Given the description of an element on the screen output the (x, y) to click on. 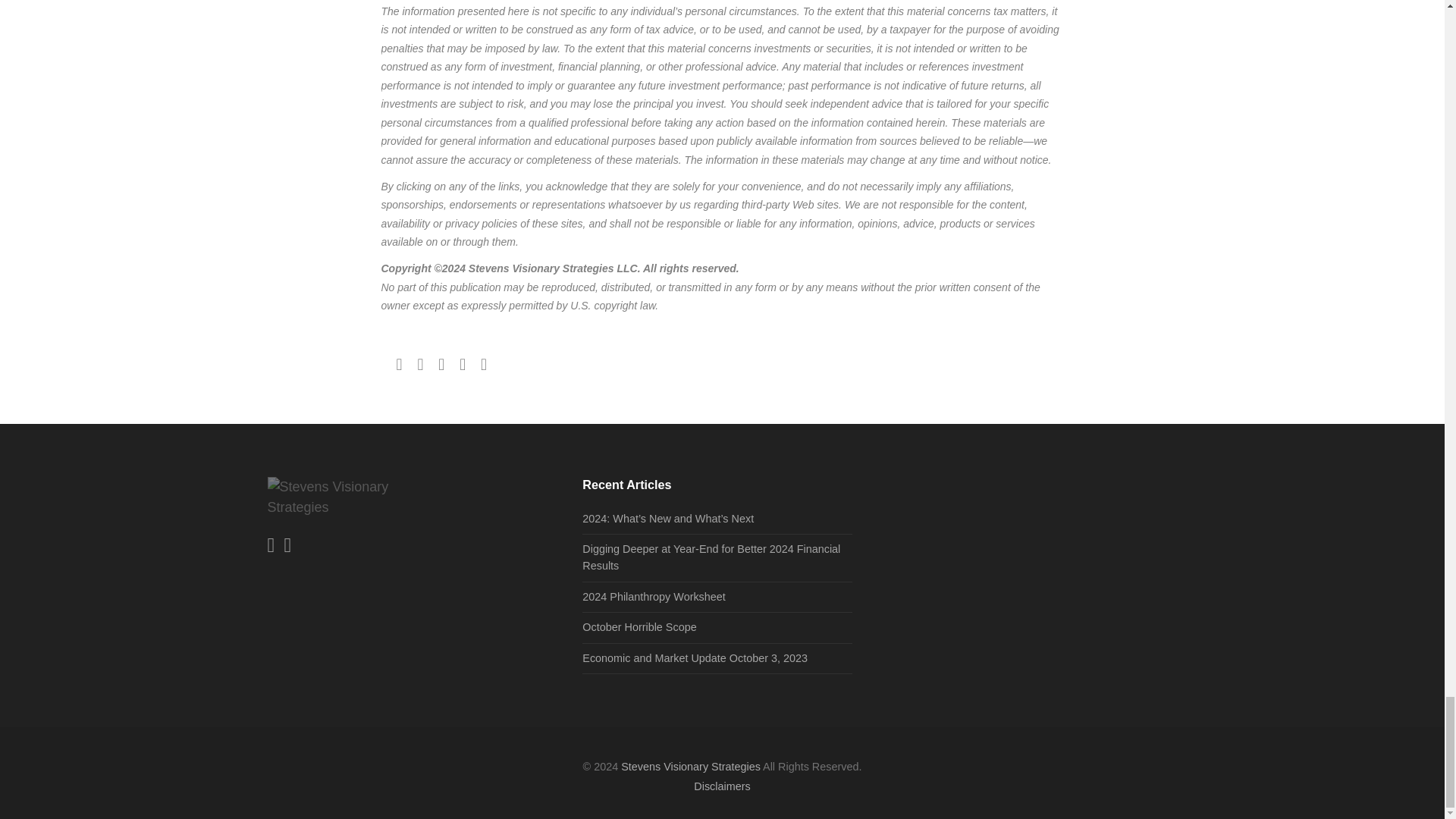
Disclaimers (721, 786)
October Horrible Scope (638, 626)
Digging Deeper at Year-End for Better 2024 Financial Results (711, 556)
Stevens Visionary Strategies (690, 766)
Economic and Market Update October 3, 2023 (695, 657)
2024 Philanthropy Worksheet (653, 596)
